Given the description of an element on the screen output the (x, y) to click on. 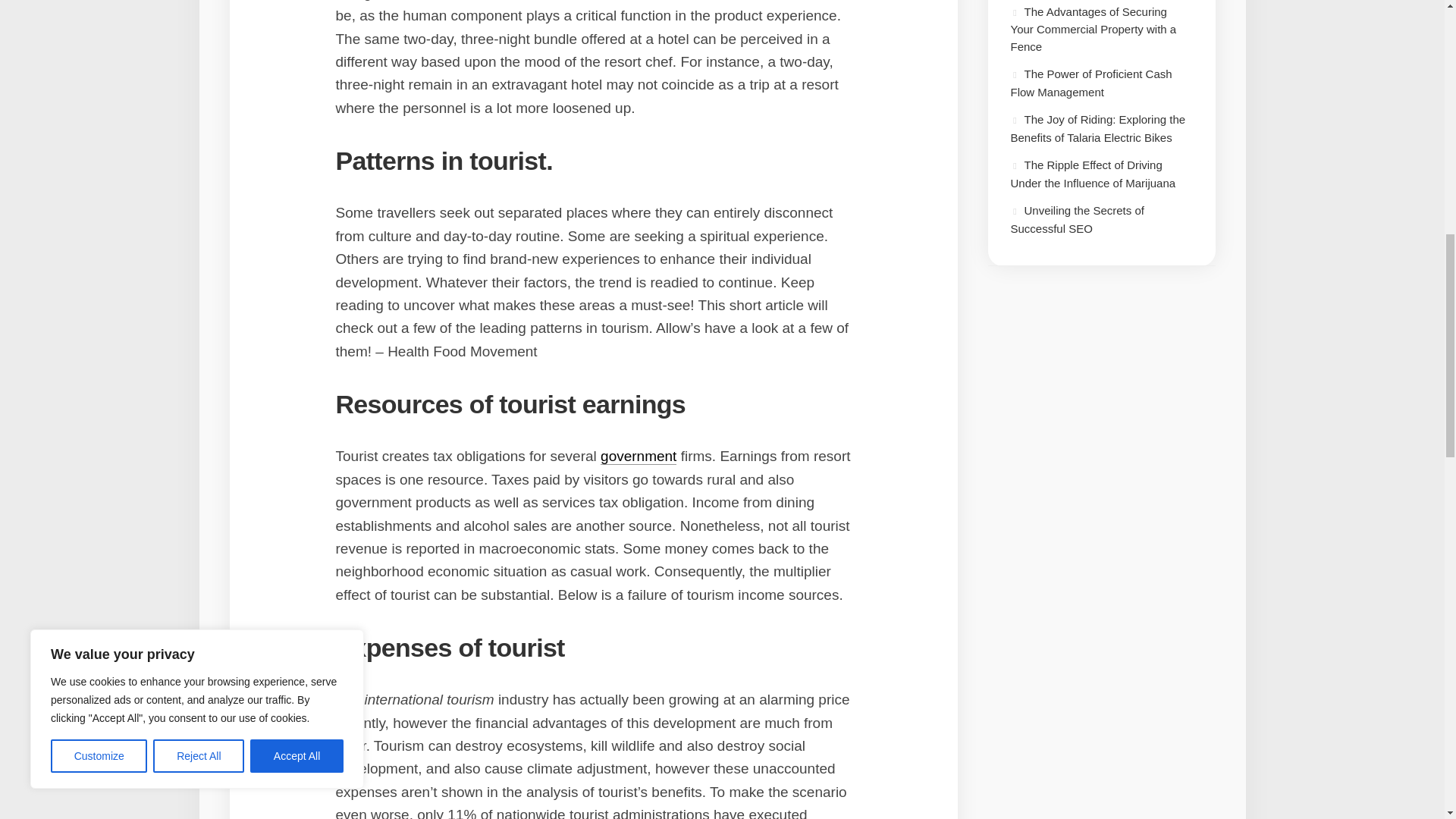
government (638, 455)
